Given the description of an element on the screen output the (x, y) to click on. 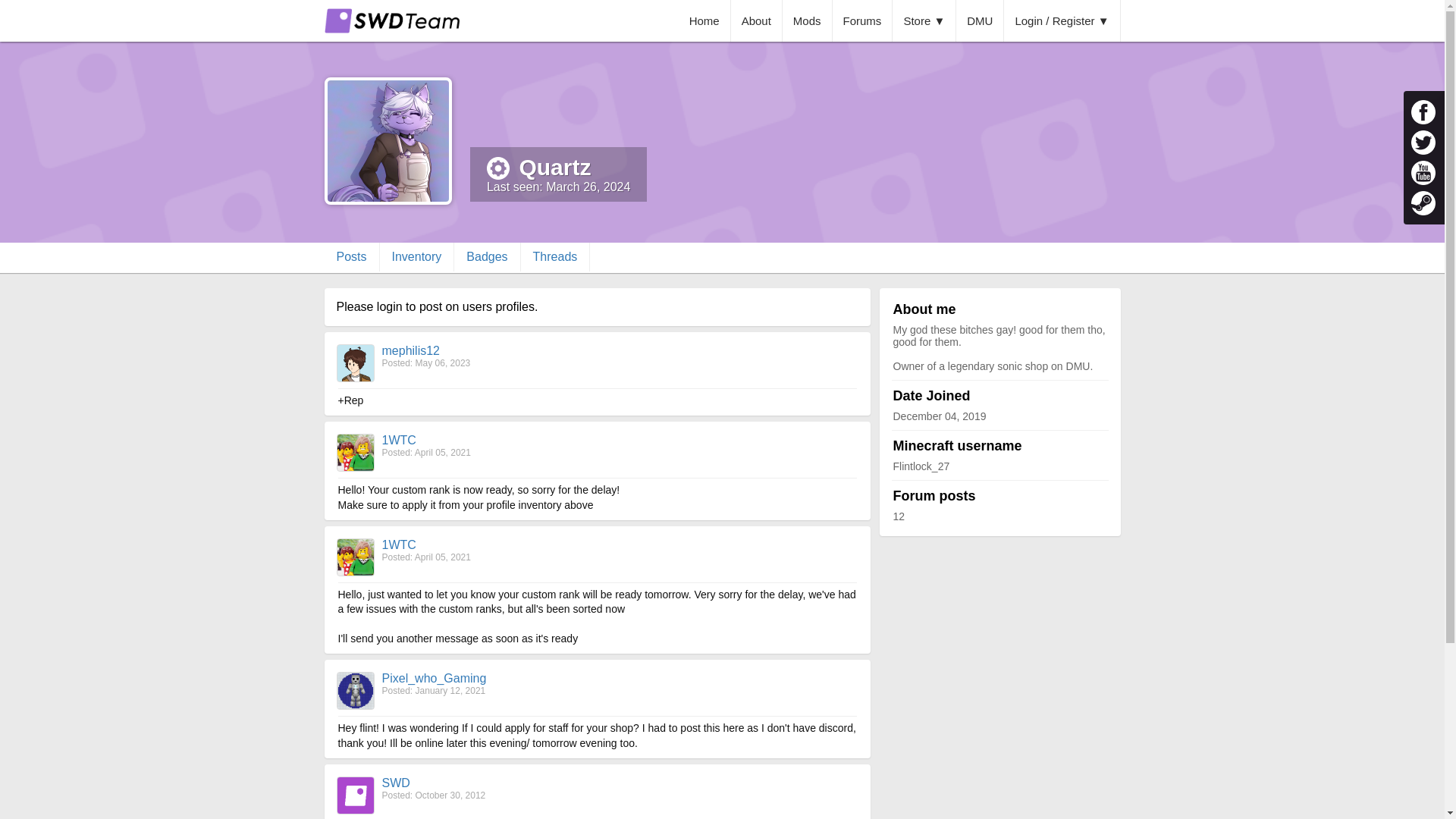
Forums (862, 20)
1WTC (398, 544)
Threads (556, 256)
mephilis12 (410, 350)
About (756, 20)
Inventory (417, 256)
Please login to post on users profiles. (437, 306)
Posts (352, 256)
Badges (486, 256)
DMU (980, 20)
Store (924, 20)
Mods (807, 20)
1WTC (398, 440)
Home (704, 20)
